Given the description of an element on the screen output the (x, y) to click on. 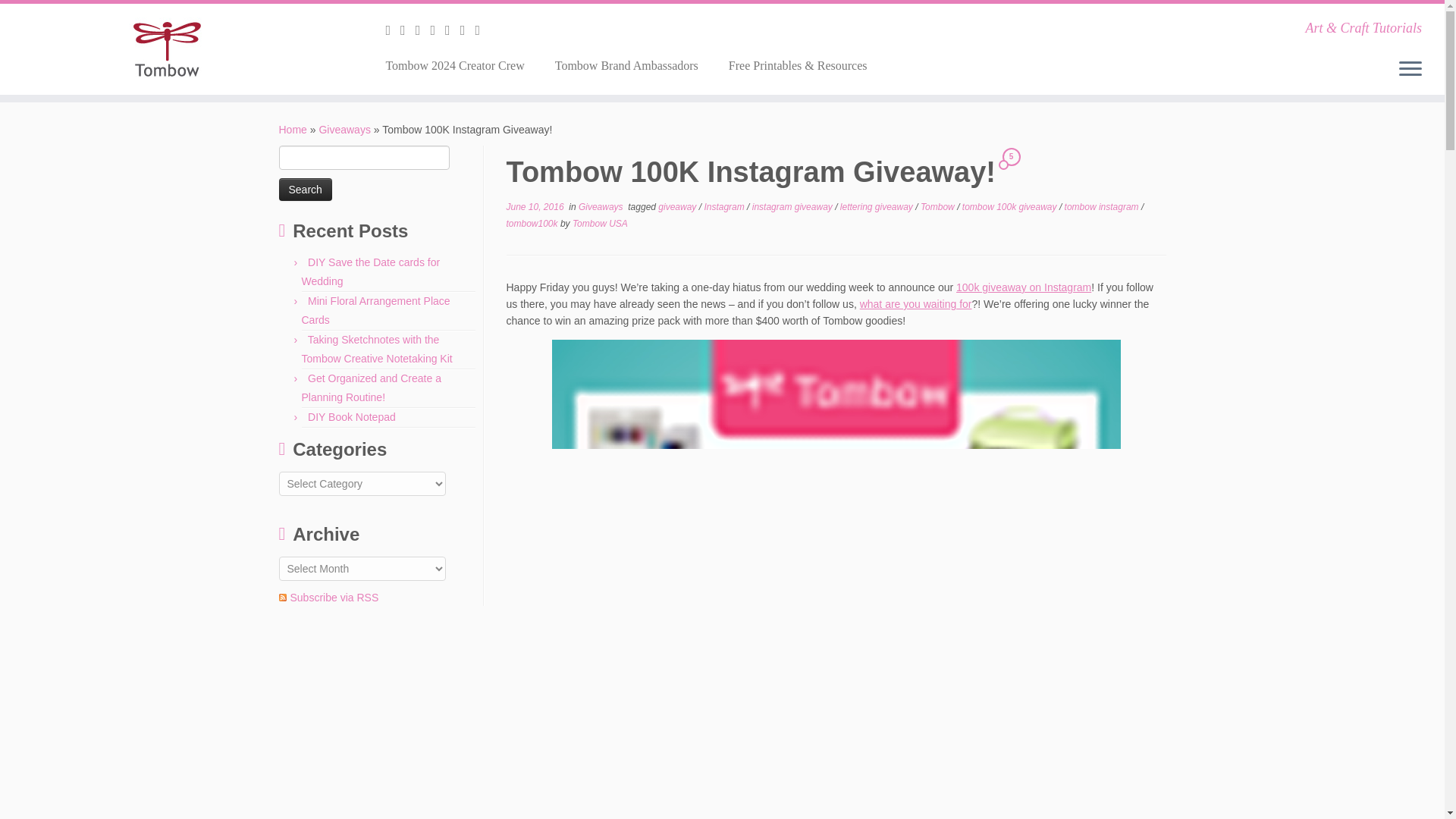
Search (305, 189)
Taking Sketchnotes with the Tombow Creative Notetaking Kit (376, 348)
Open the menu (1410, 69)
E-mail (392, 29)
Tombow (938, 206)
Search (305, 189)
Follow me on Twitter (407, 29)
DIY Book Notepad (351, 417)
Tombow USA (599, 223)
Follow me on Tumblr (452, 29)
Follow me on Instagram (437, 29)
lettering giveaway (877, 206)
Instagram (724, 206)
Home (293, 129)
Pin me on Pinterest (481, 29)
